Given the description of an element on the screen output the (x, y) to click on. 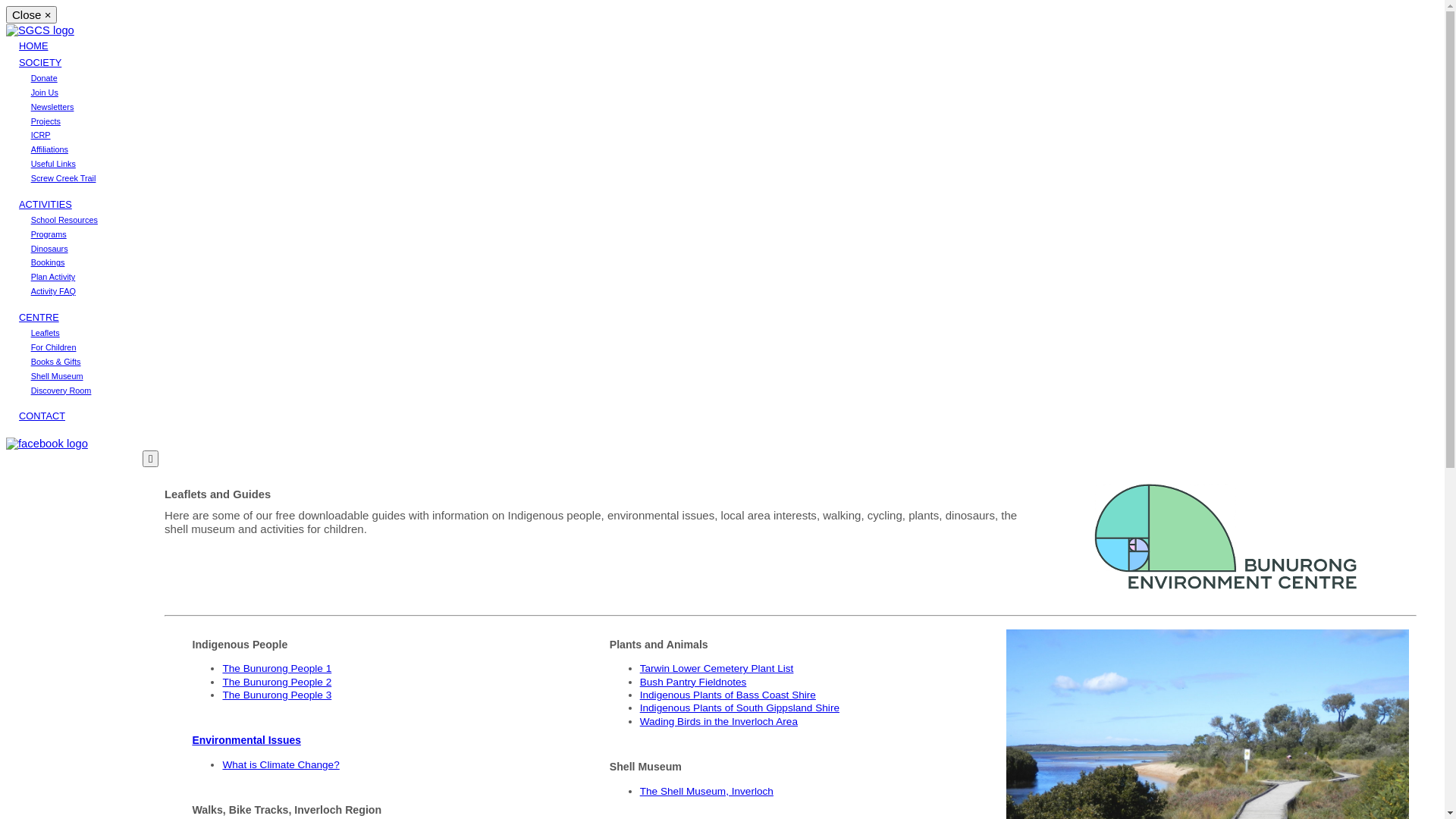
Indigenous Plants of Bass Coast Shire Element type: text (727, 694)
ACTIVITIES Element type: text (45, 204)
Shell Museum Element type: text (57, 375)
Useful Links Element type: text (53, 163)
School Resources Element type: text (64, 219)
Indigenous Plants of South Gippsland Shire Element type: text (739, 707)
SOCIETY Element type: text (39, 62)
Wading Birds in the Inverloch Area Element type: text (718, 721)
Discovery Room Element type: text (61, 390)
ICRP Element type: text (40, 134)
Donate Element type: text (44, 77)
Join Us Element type: text (44, 92)
Plan Activity Element type: text (53, 276)
The Shell Museum, Inverloch Element type: text (706, 791)
The Bunurong People 2 Element type: text (276, 681)
CENTRE Element type: text (38, 317)
Projects Element type: text (45, 120)
Affiliations Element type: text (49, 148)
Dinosaurs Element type: text (49, 248)
Bush Pantry Fieldnotes Element type: text (693, 681)
Screw Creek Trail Element type: text (63, 177)
For Children Element type: text (53, 346)
Tarwin Lower Cemetery Plant List Element type: text (716, 668)
Programs Element type: text (48, 233)
What is Climate Change? Element type: text (280, 764)
Environmental Issues Element type: text (372, 751)
Newsletters Element type: text (52, 106)
Bookings Element type: text (48, 261)
Leaflets Element type: text (45, 332)
Books & Gifts Element type: text (56, 361)
The Bunurong People 3 Element type: text (276, 694)
Activity FAQ Element type: text (53, 290)
CONTACT Element type: text (41, 415)
The Bunurong People 1 Element type: text (276, 668)
HOME Element type: text (32, 45)
